Given the description of an element on the screen output the (x, y) to click on. 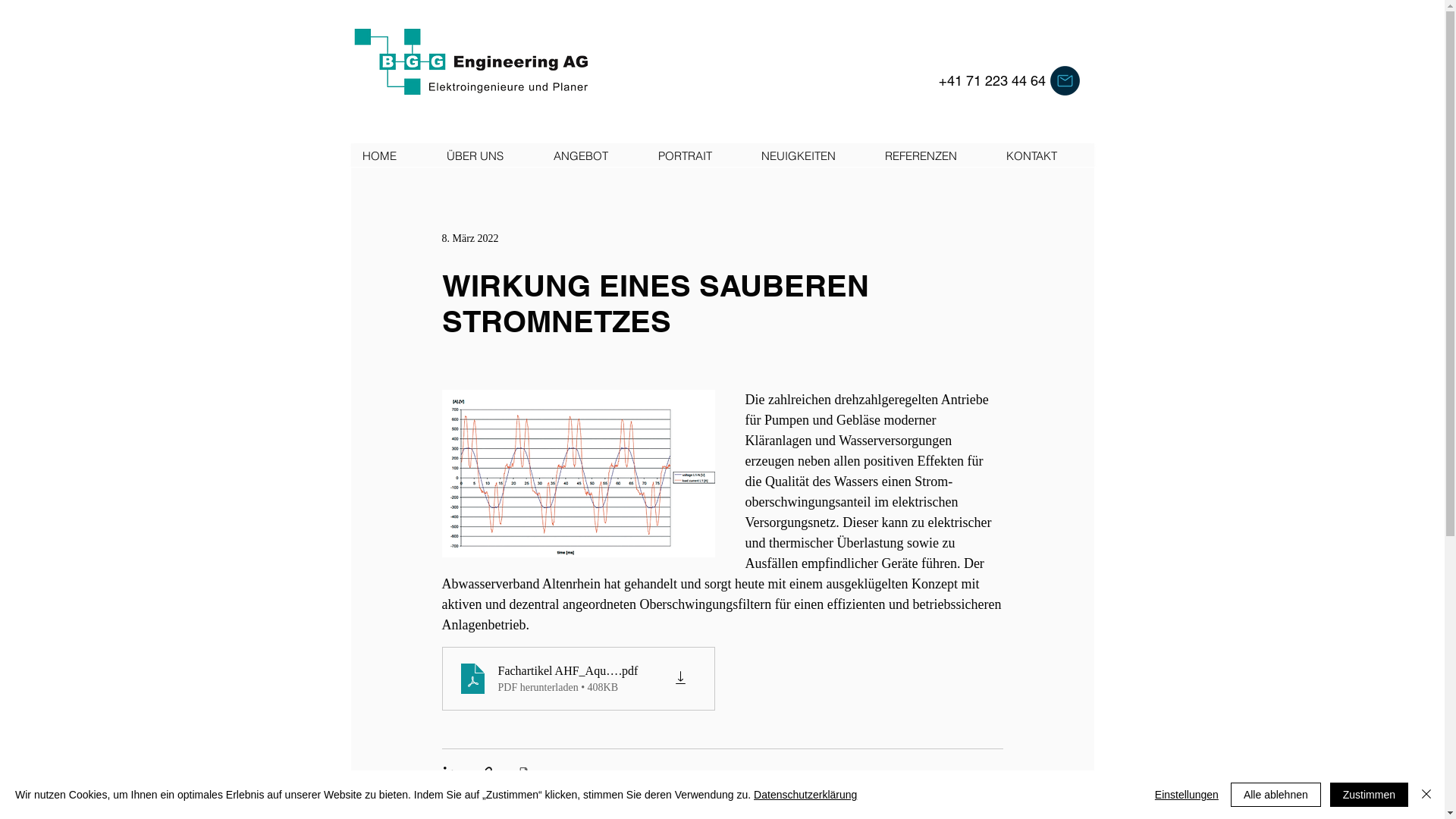
BGG-Firmenlogo-farbig-oA_edited.png Element type: hover (471, 61)
HOME Element type: text (391, 155)
Zustimmen Element type: text (1369, 794)
NEUIGKEITEN Element type: text (810, 155)
KONTAKT Element type: text (1043, 155)
ANGEBOT Element type: text (593, 155)
Alle ablehnen Element type: text (1275, 794)
REFERENZEN Element type: text (932, 155)
PORTRAIT Element type: text (697, 155)
